Given the description of an element on the screen output the (x, y) to click on. 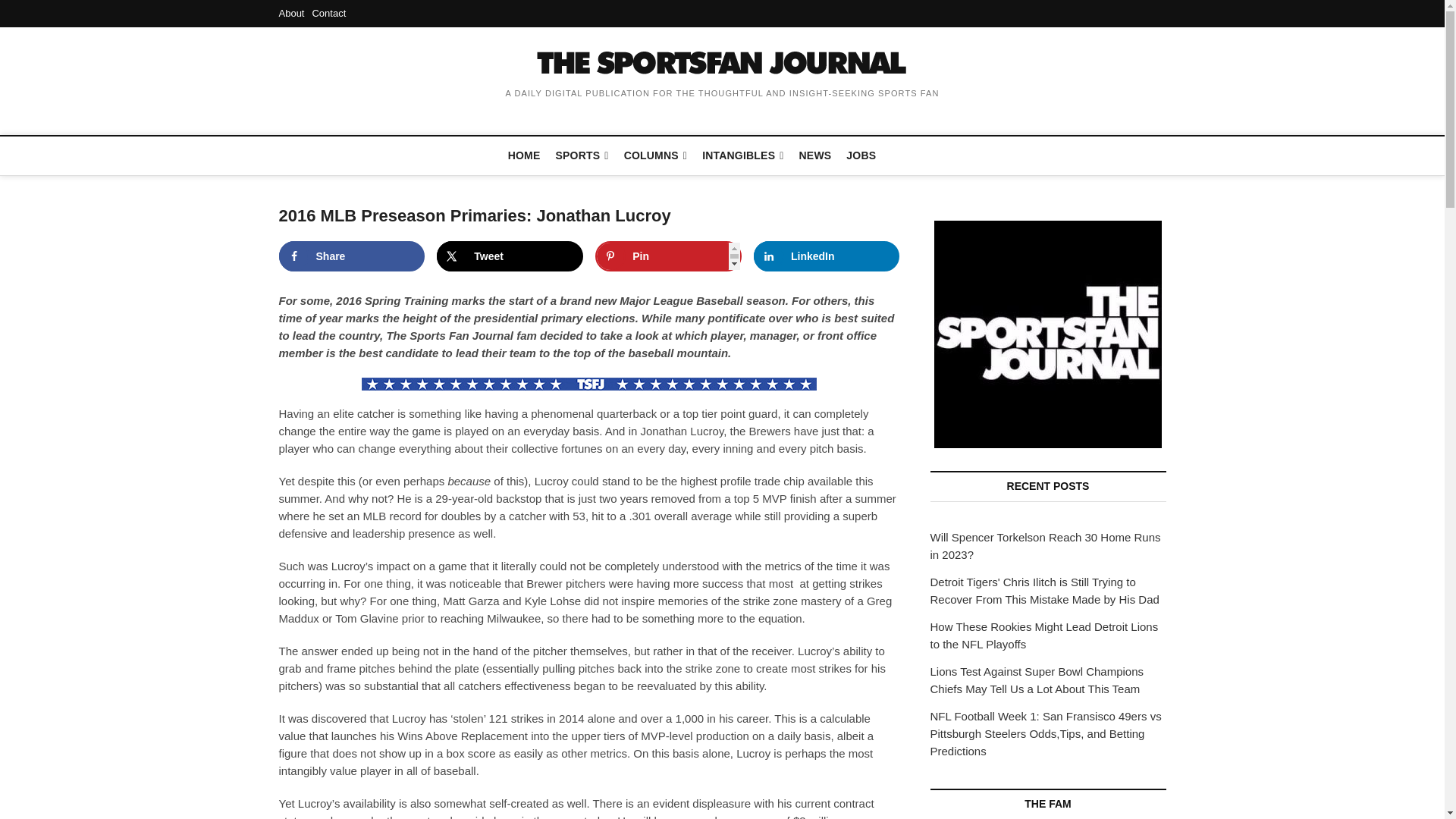
NEWS (816, 155)
HOME (524, 155)
Contact (328, 12)
JOBS (860, 155)
INTANGIBLES (742, 155)
Share (352, 255)
About (291, 12)
Share on LinkedIn (826, 255)
Share on Facebook (352, 255)
SPORTS (581, 155)
Save to Pinterest (668, 255)
Share on X (509, 255)
COLUMNS (655, 155)
Tweet (509, 255)
